Given the description of an element on the screen output the (x, y) to click on. 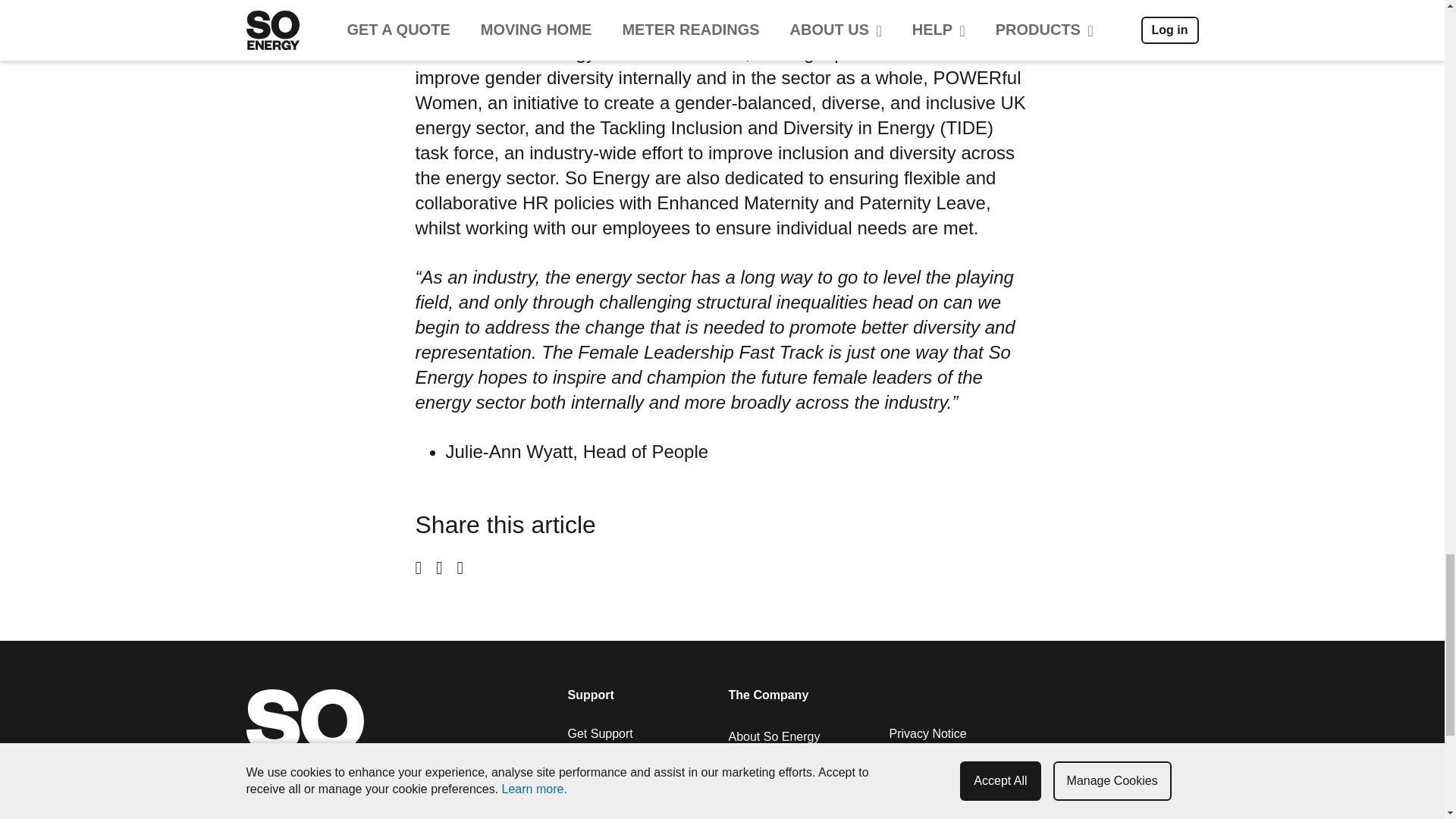
Energy Saving Tips (619, 792)
Customer Reviews (778, 756)
Emergency (597, 772)
Our Energy (759, 775)
Unhappy with Us? (616, 753)
Get Support (599, 733)
Smart Export Guarantee (632, 812)
About So Energy (773, 736)
